Given the description of an element on the screen output the (x, y) to click on. 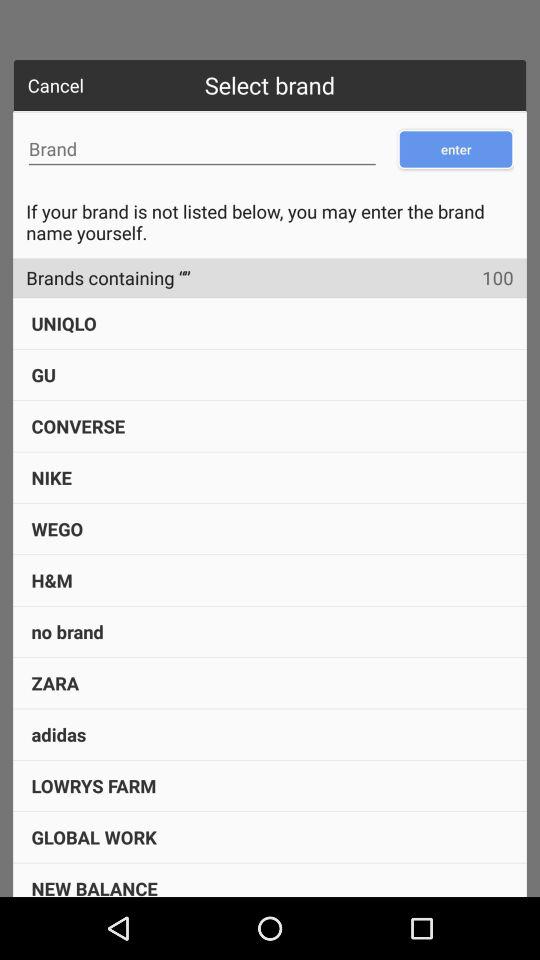
tap item next to the 100 item (101, 277)
